Given the description of an element on the screen output the (x, y) to click on. 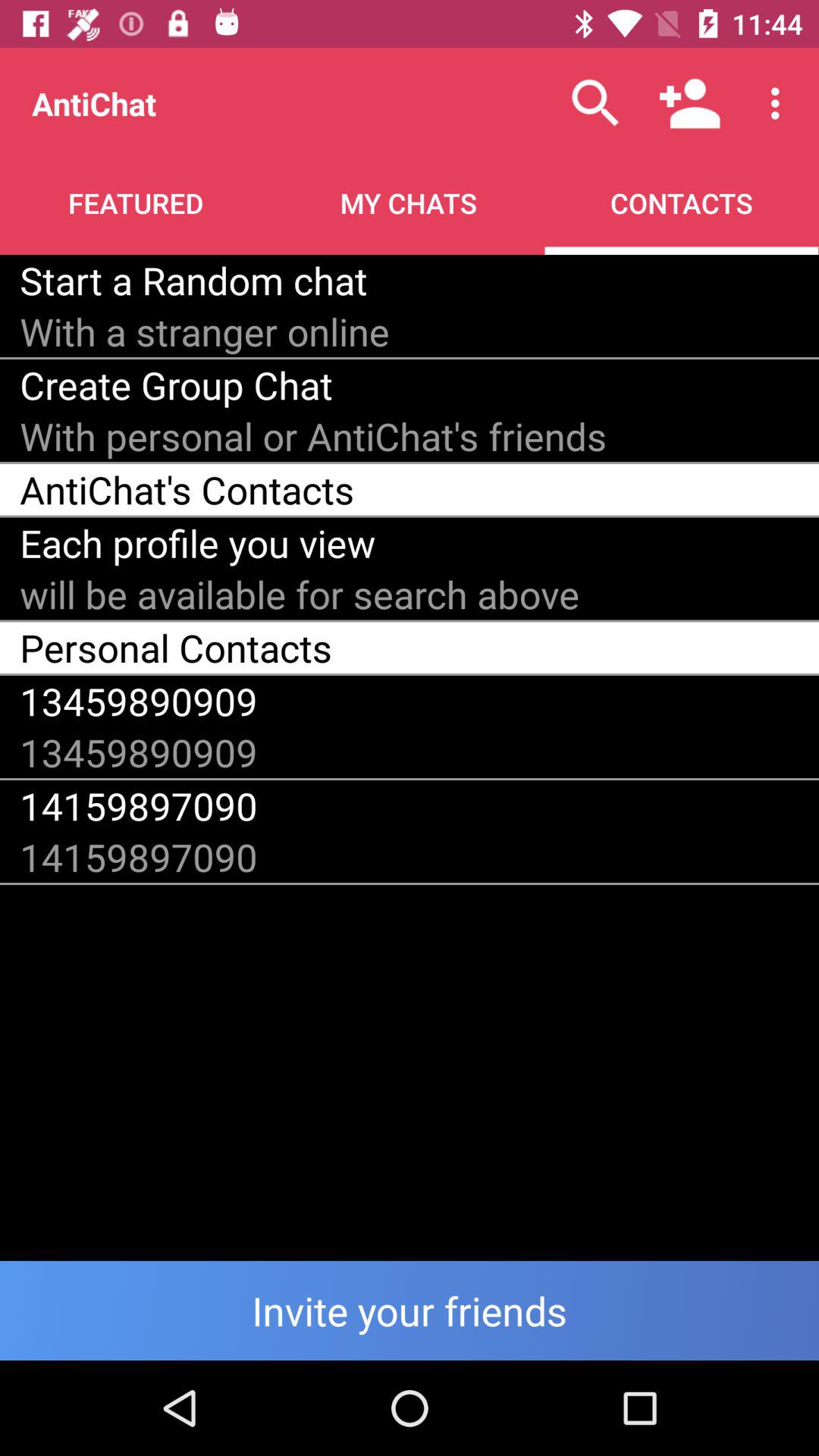
add friends (409, 1310)
